Given the description of an element on the screen output the (x, y) to click on. 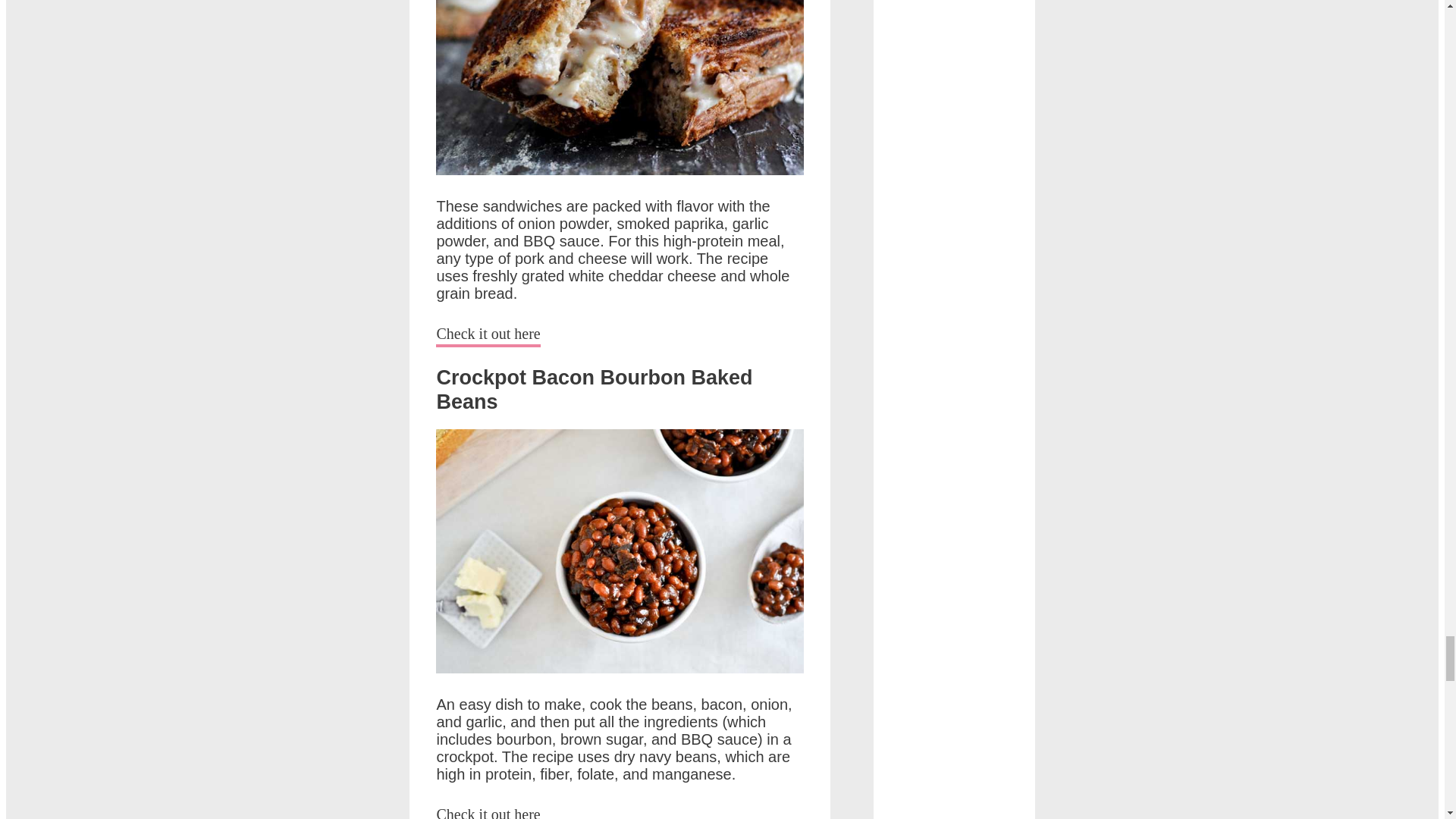
Check it out here (487, 812)
Check it out here (487, 336)
